Given the description of an element on the screen output the (x, y) to click on. 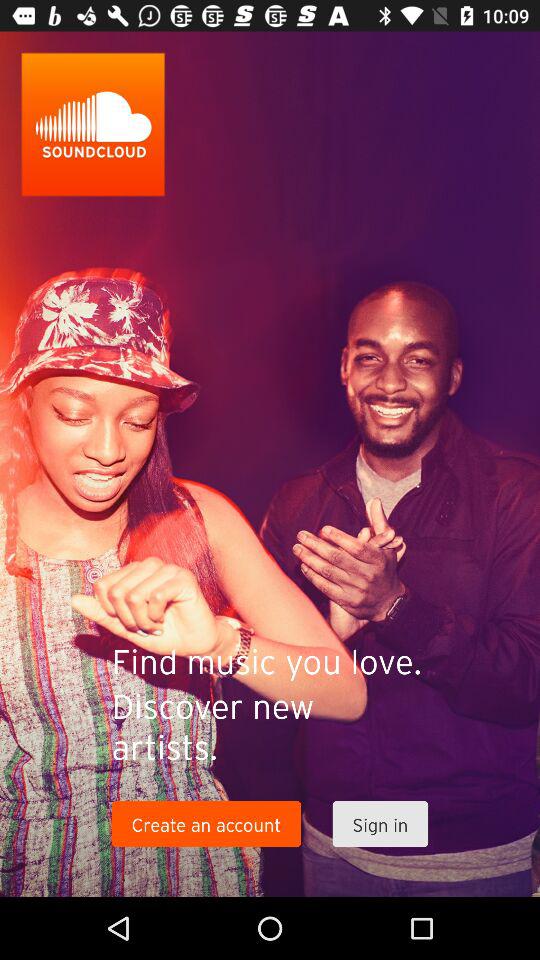
flip to the create an account item (206, 824)
